Given the description of an element on the screen output the (x, y) to click on. 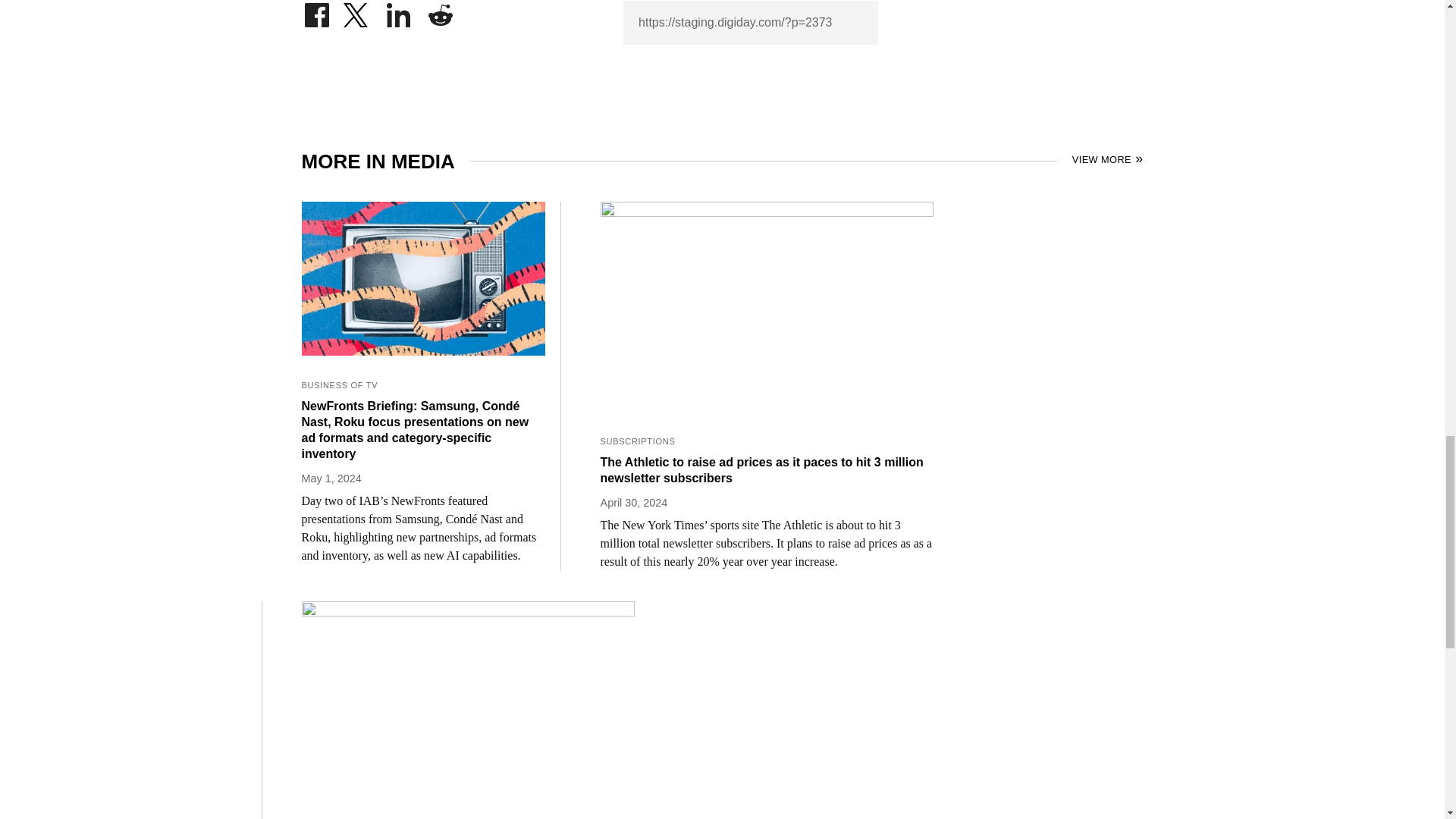
Share on Facebook (316, 11)
Share on Twitter (357, 11)
Share on LinkedIn (398, 11)
Share on Reddit (440, 11)
